Given the description of an element on the screen output the (x, y) to click on. 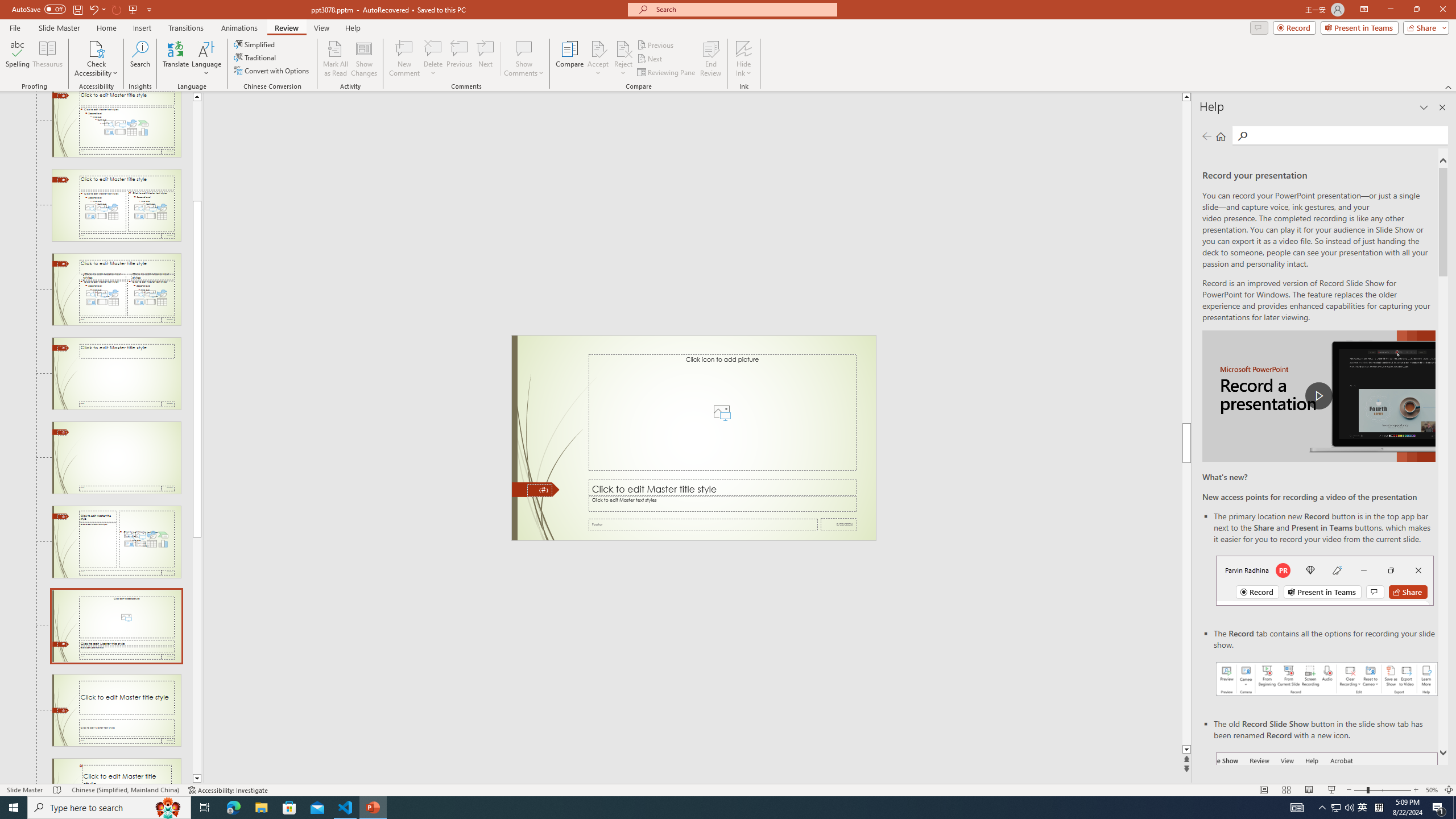
Accept (598, 58)
Freeform 11 (535, 489)
TextBox (722, 503)
Slide Blank Layout: used by no slides (116, 457)
Show Changes (363, 58)
Slide Two Content Layout: used by no slides (116, 204)
